Given the description of an element on the screen output the (x, y) to click on. 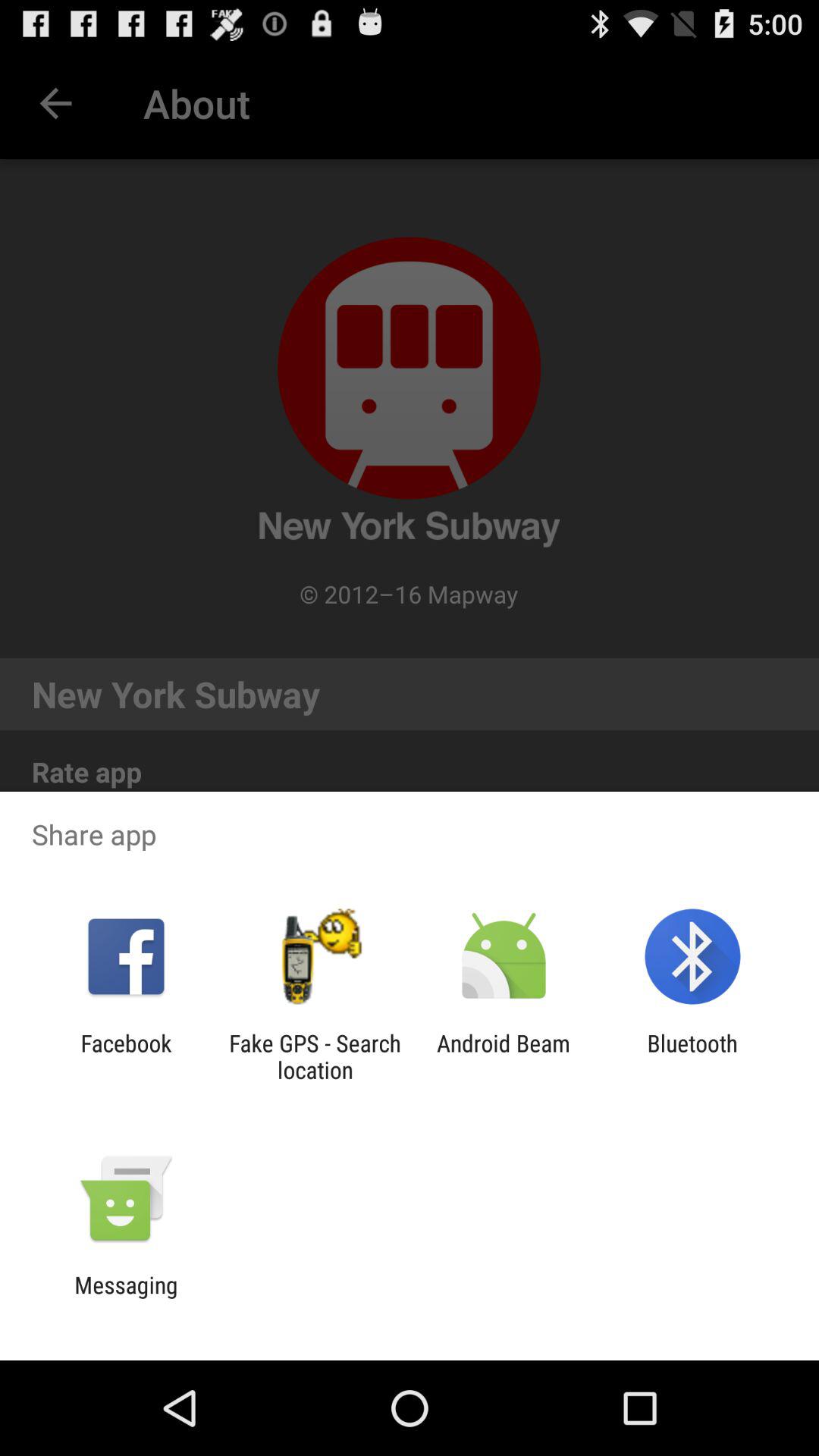
scroll until facebook (125, 1056)
